Given the description of an element on the screen output the (x, y) to click on. 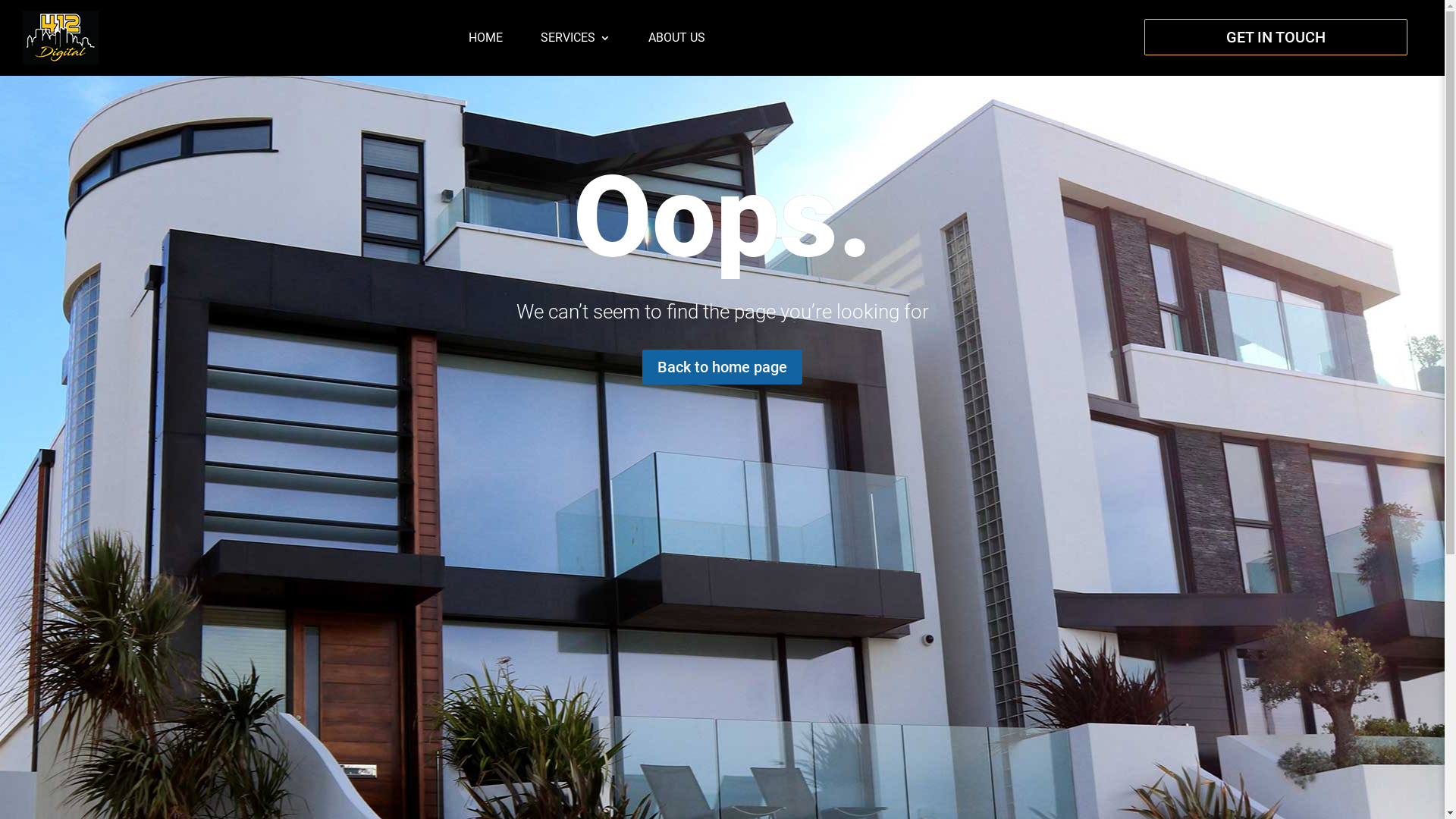
SERVICES Element type: text (575, 37)
GET IN TOUCH Element type: text (1275, 36)
Back to home page Element type: text (722, 366)
HOME Element type: text (485, 37)
ABOUT US Element type: text (676, 37)
